Given the description of an element on the screen output the (x, y) to click on. 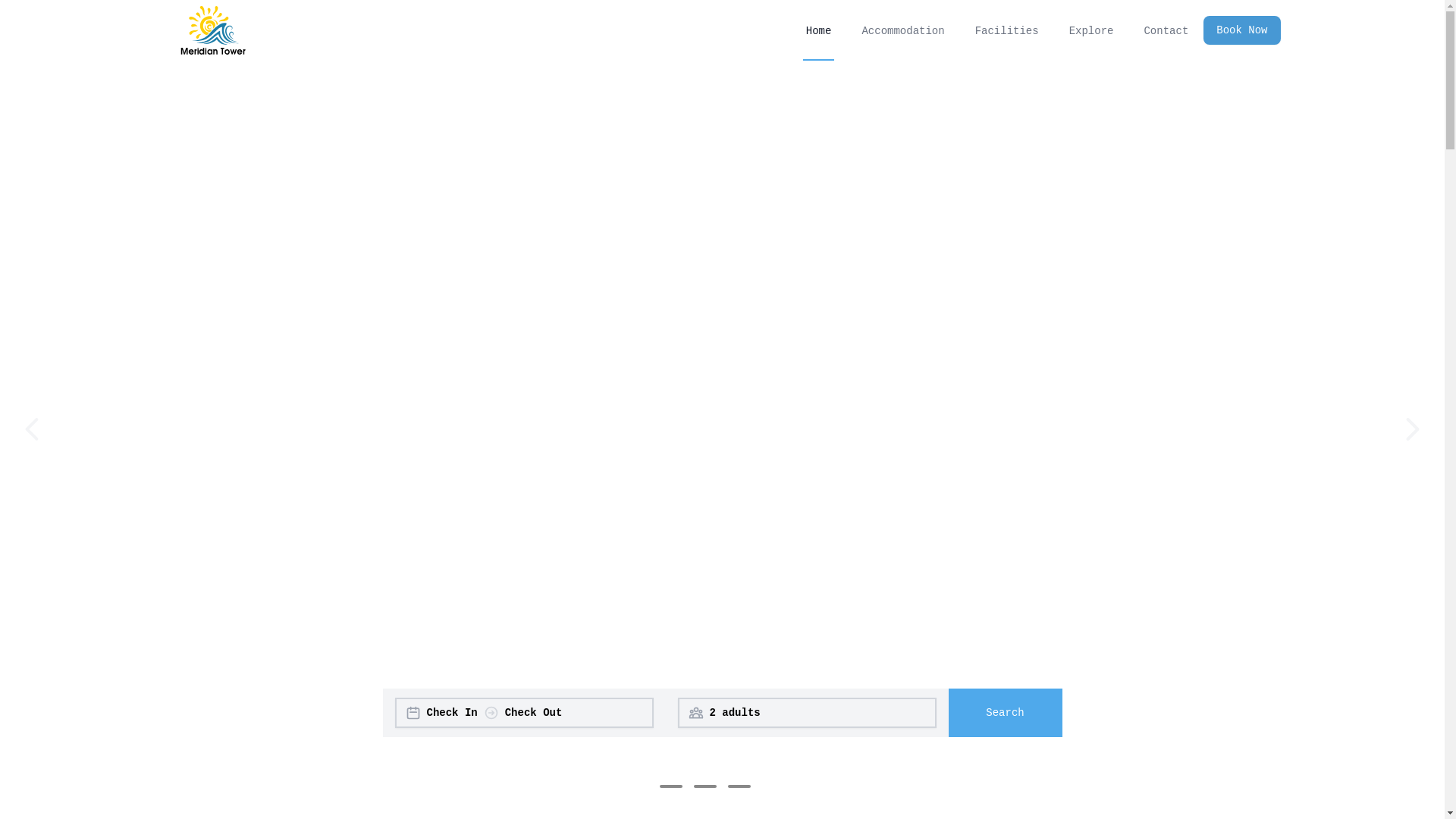
Home Element type: text (818, 30)
Explore Element type: text (1091, 30)
Search Element type: text (1004, 712)
Book Now Element type: text (1241, 29)
Accommodation Element type: text (902, 30)
Book Now Element type: text (1235, 30)
Facilities Element type: text (1006, 30)
Contact Element type: text (1165, 30)
